Given the description of an element on the screen output the (x, y) to click on. 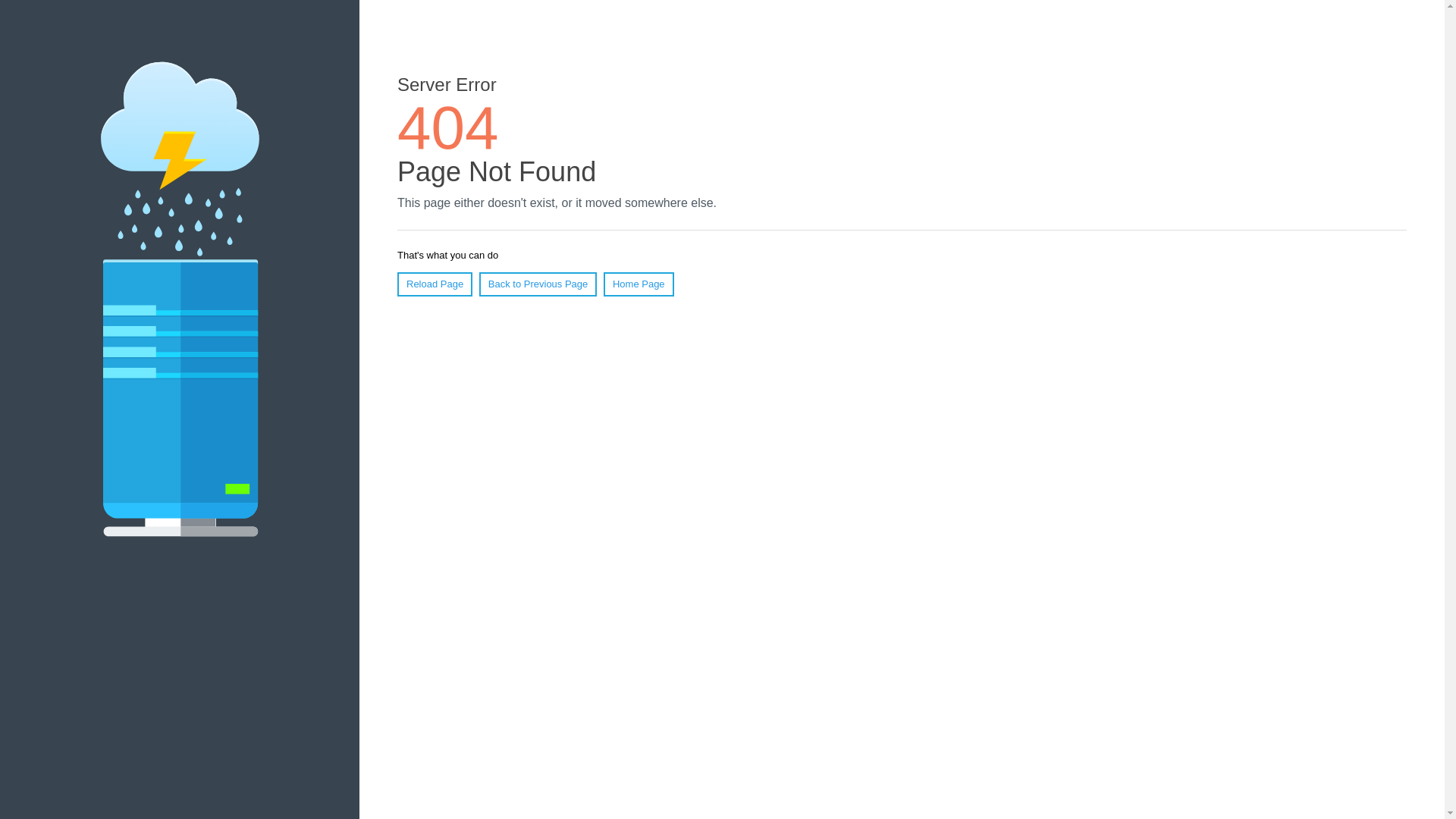
Reload Page Element type: text (434, 284)
Home Page Element type: text (638, 284)
Back to Previous Page Element type: text (538, 284)
